Given the description of an element on the screen output the (x, y) to click on. 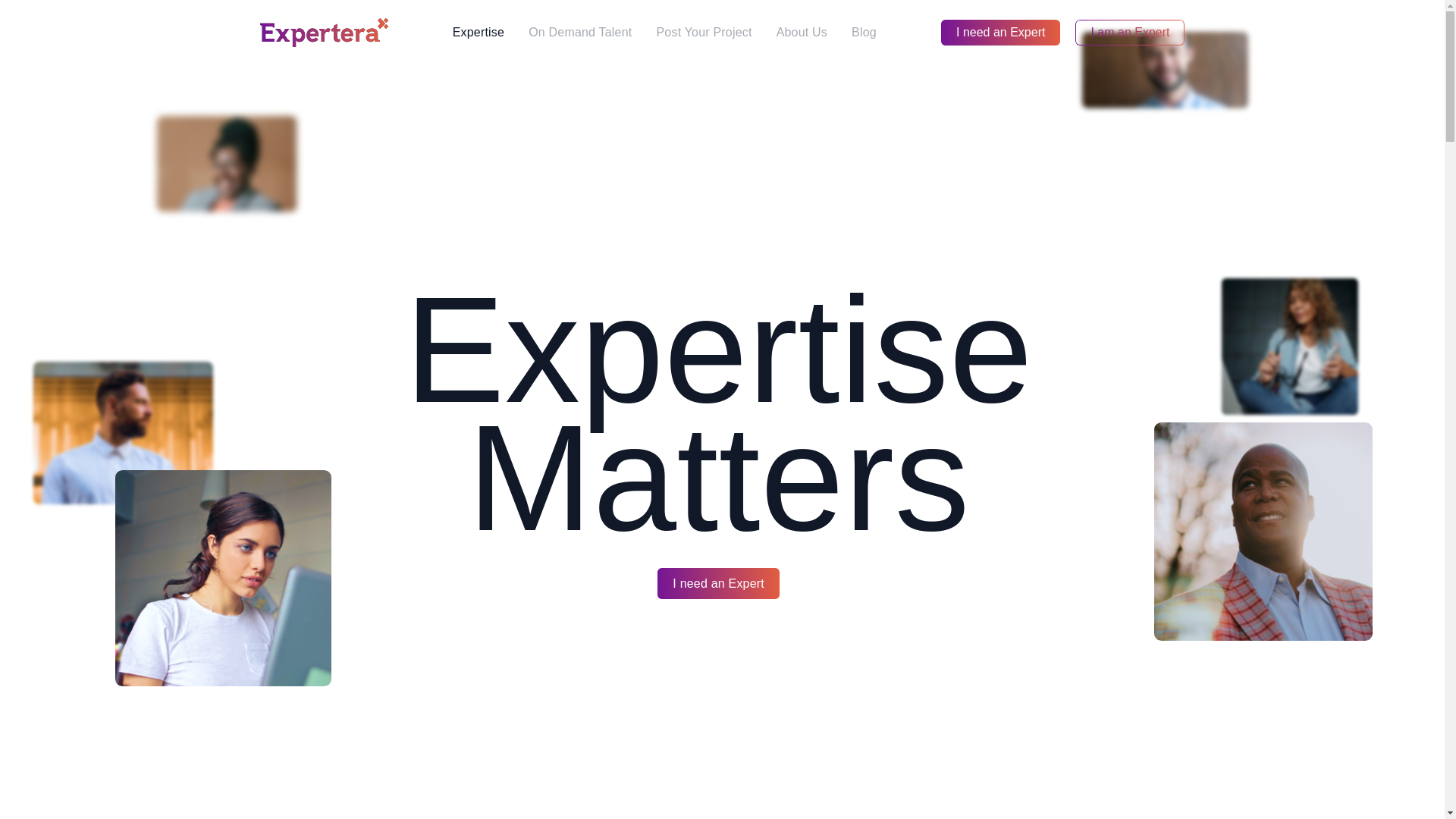
Post Your Project (702, 32)
On Demand Talent (579, 32)
I need an Expert (718, 583)
Expertise (478, 32)
Blog (864, 32)
I am an Expert (1130, 32)
I need an Expert (999, 32)
About Us (802, 32)
